Given the description of an element on the screen output the (x, y) to click on. 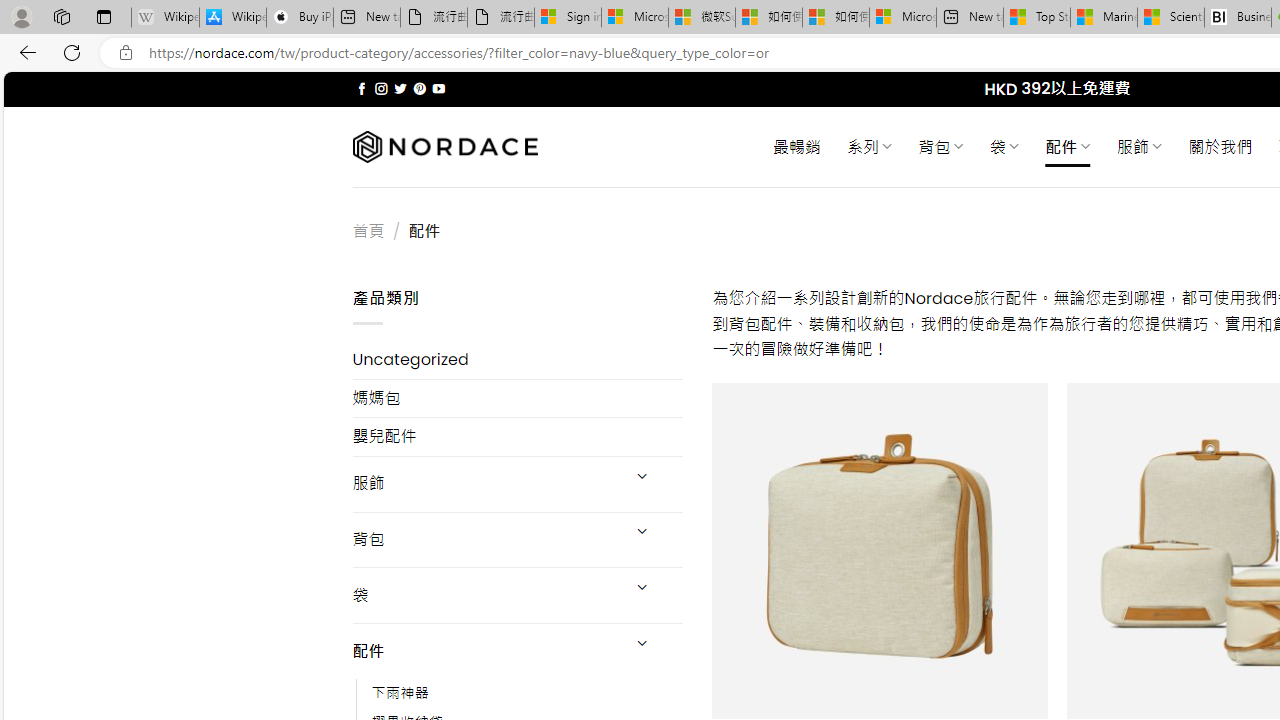
Follow on Instagram (381, 88)
Follow on YouTube (438, 88)
Follow on Pinterest (419, 88)
